Given the description of an element on the screen output the (x, y) to click on. 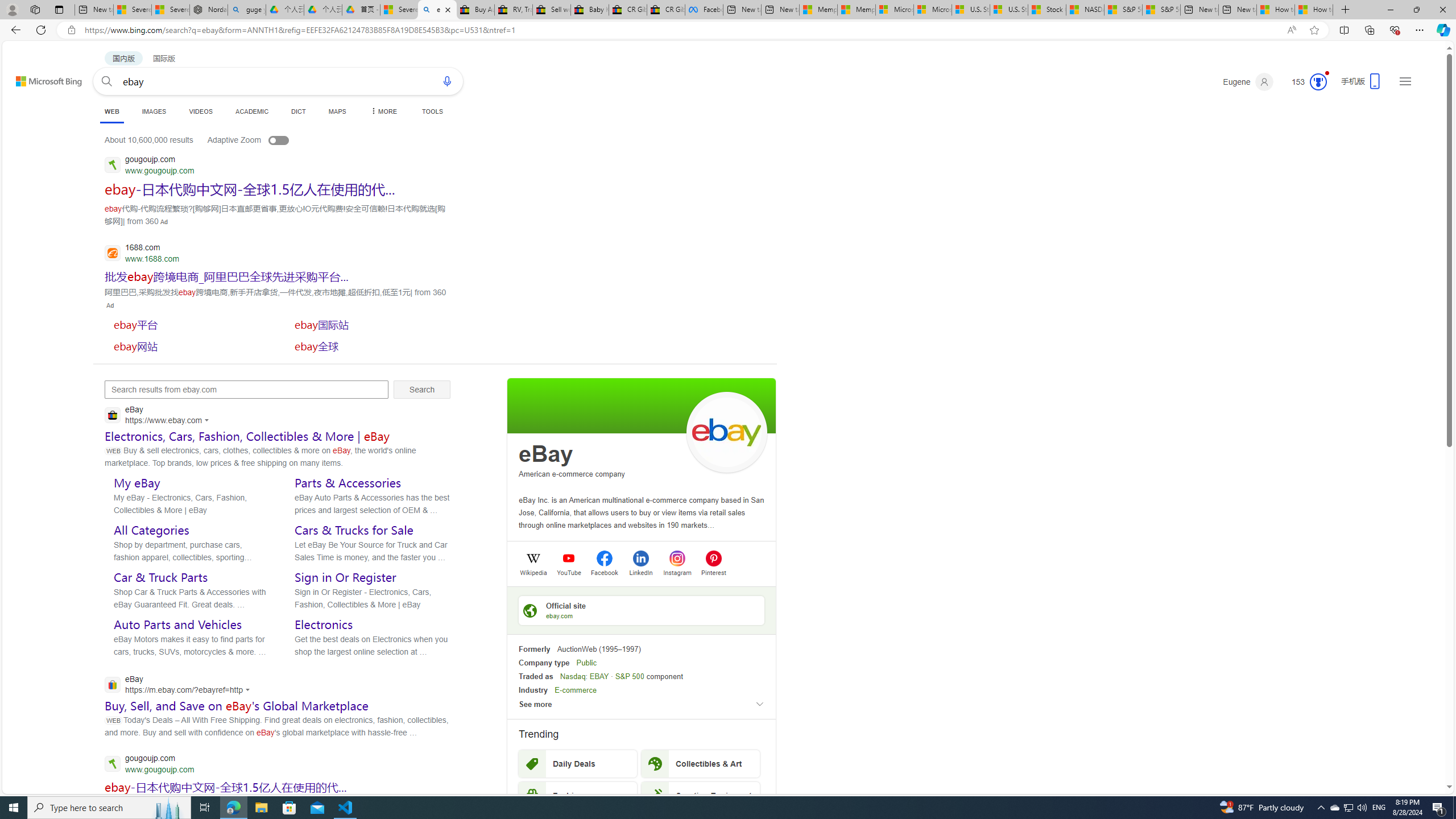
Actions for this site (249, 689)
Settings and quick links (1404, 80)
Auto Parts and Vehicles (177, 624)
Traded as (535, 676)
Class: medal-circled (1317, 81)
Fashion (577, 795)
See more images of eBay (726, 431)
eBay (545, 453)
Eugene (1248, 81)
Class: sp-ofsite (529, 610)
